Given the description of an element on the screen output the (x, y) to click on. 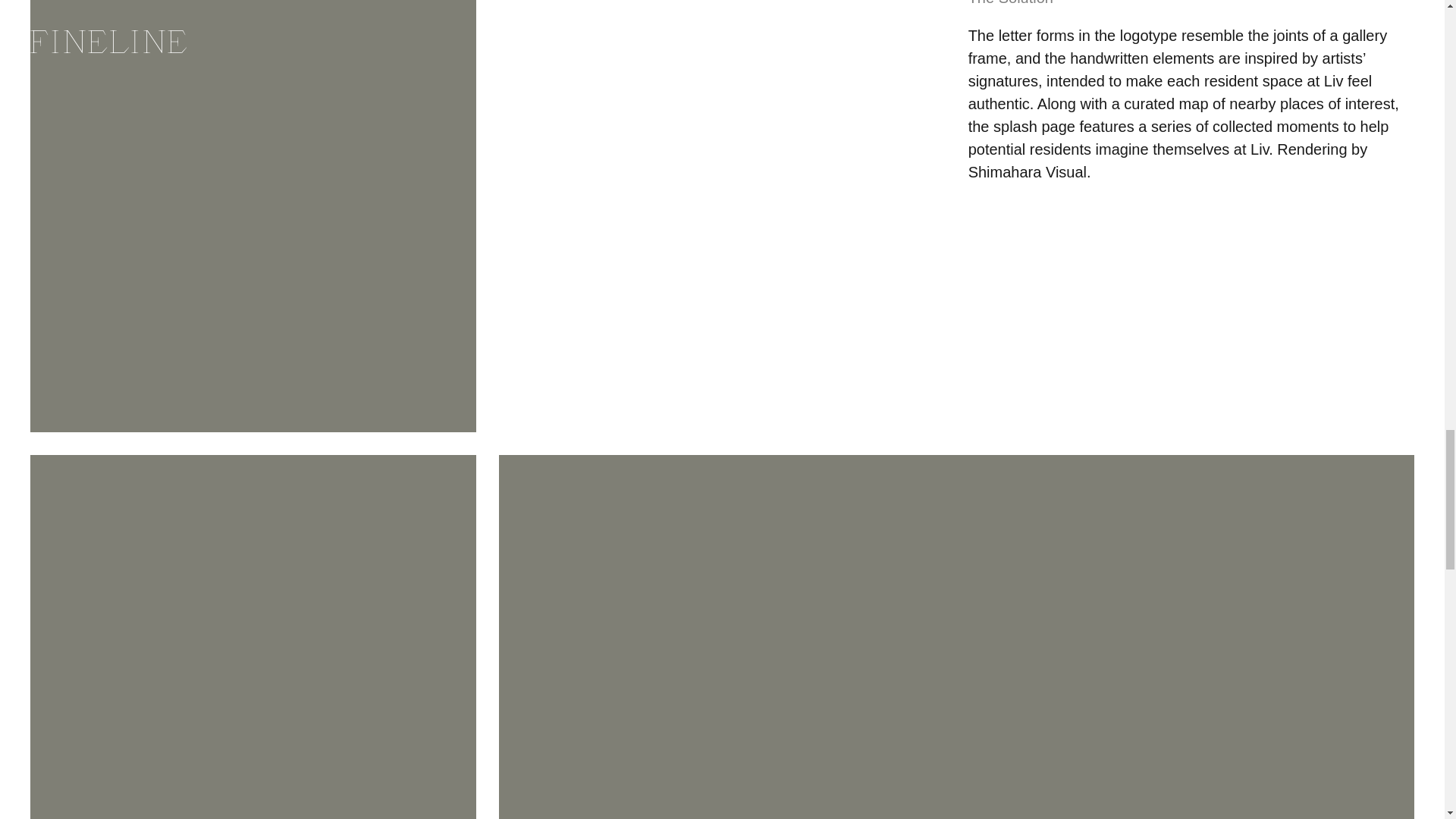
Shimahara Visual (1027, 171)
